Given the description of an element on the screen output the (x, y) to click on. 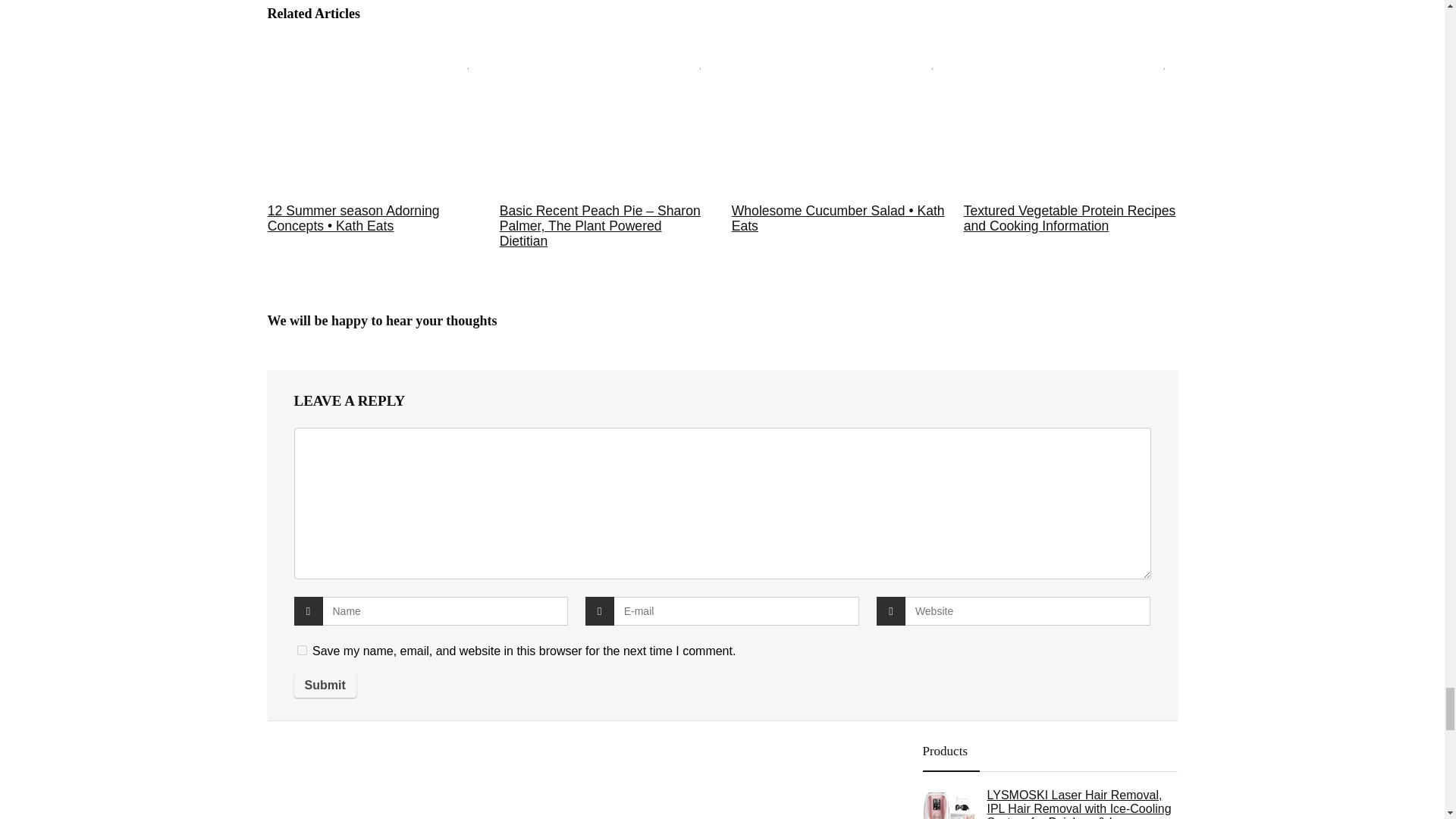
Submit (325, 685)
yes (302, 650)
